Given the description of an element on the screen output the (x, y) to click on. 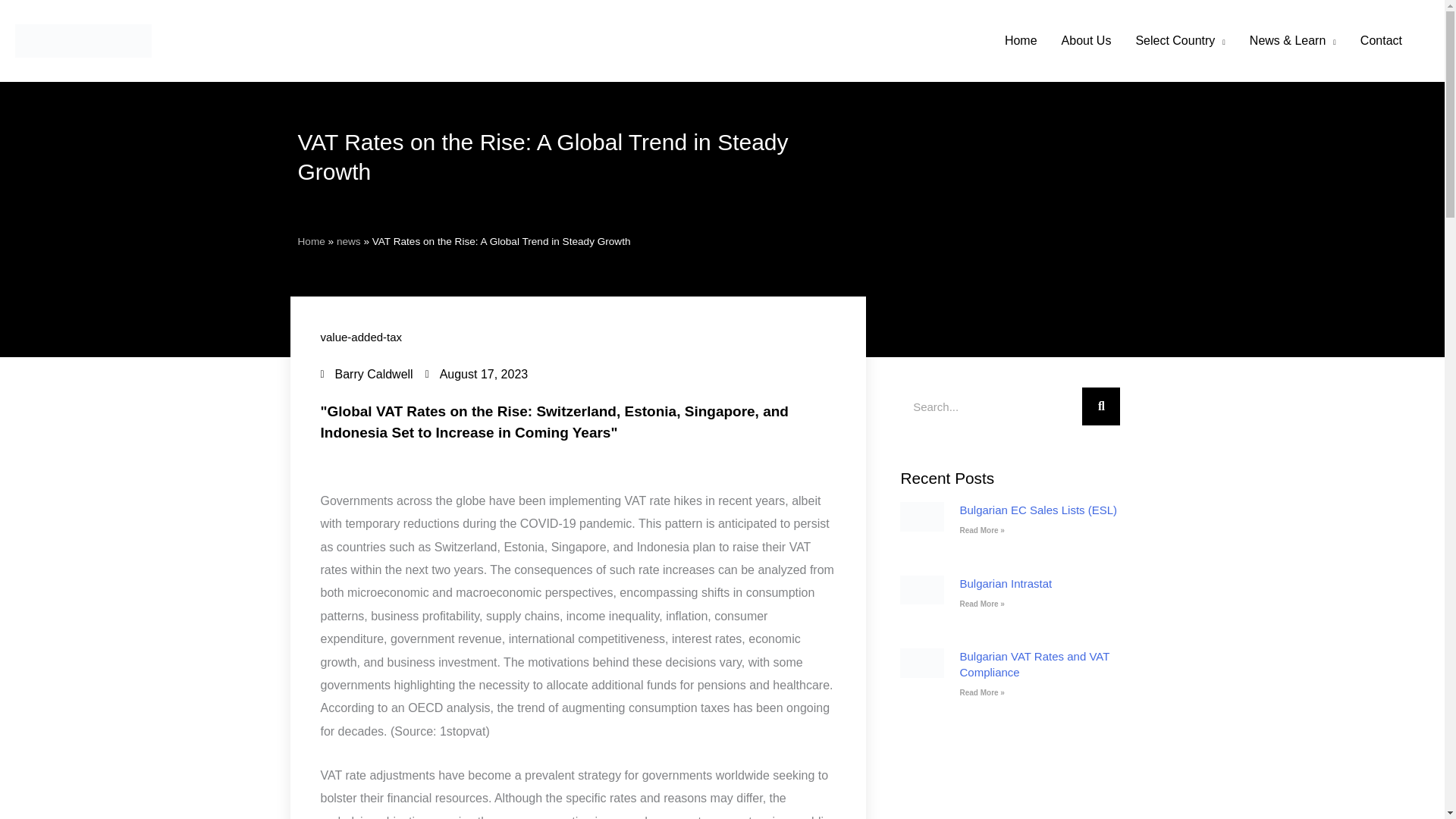
Home (1020, 40)
About Us (1086, 40)
Select Country (1179, 40)
Contact (1380, 40)
